Given the description of an element on the screen output the (x, y) to click on. 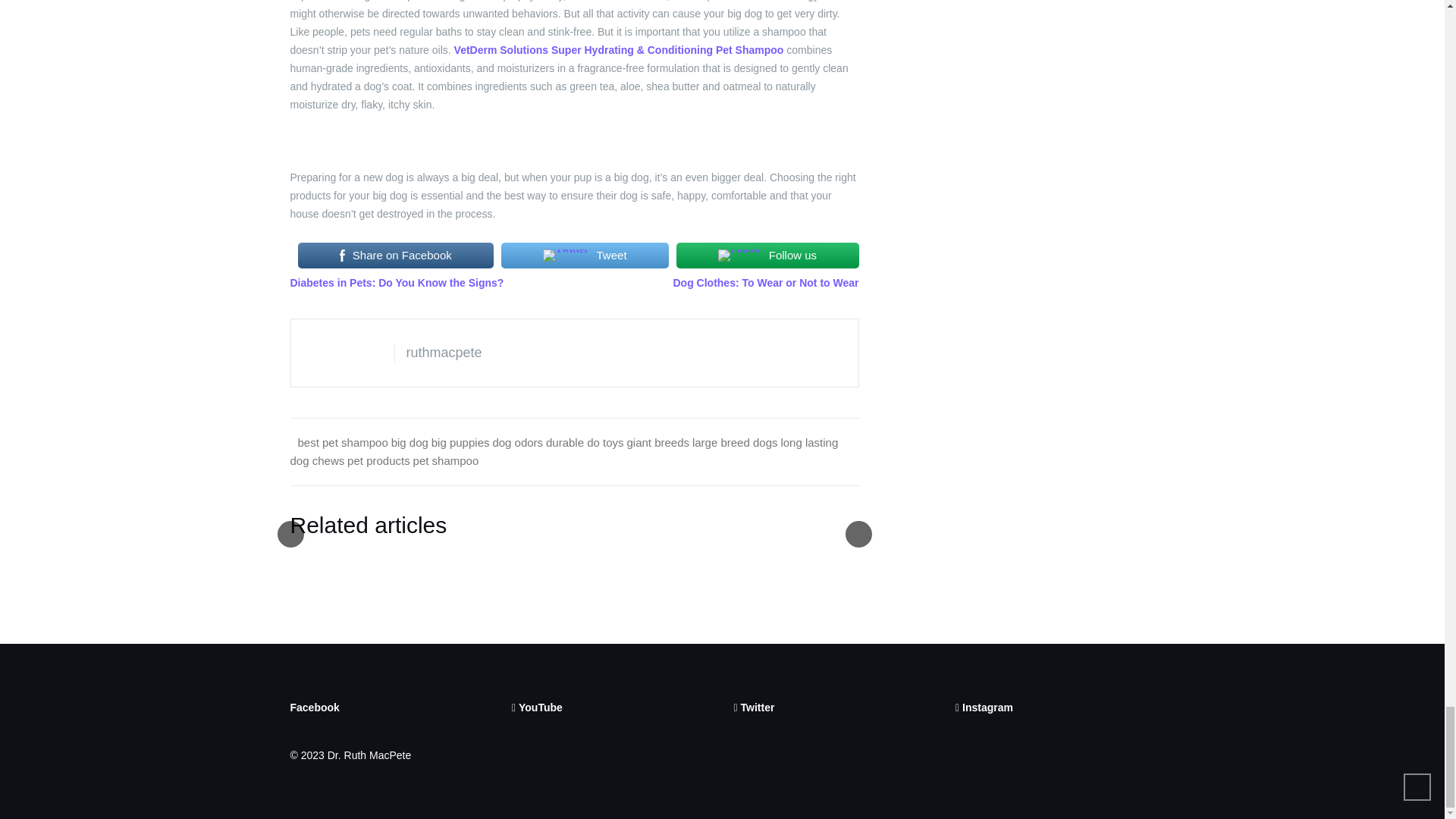
best pet shampoo (342, 441)
big dog (409, 441)
Tweet (584, 255)
dog odors (517, 441)
pet shampoo (446, 460)
pet products (378, 460)
big puppies (459, 441)
Dog Clothes: To Wear or Not to Wear (765, 282)
giant breeds (657, 441)
Diabetes in Pets: Do You Know the Signs? (396, 282)
